Given the description of an element on the screen output the (x, y) to click on. 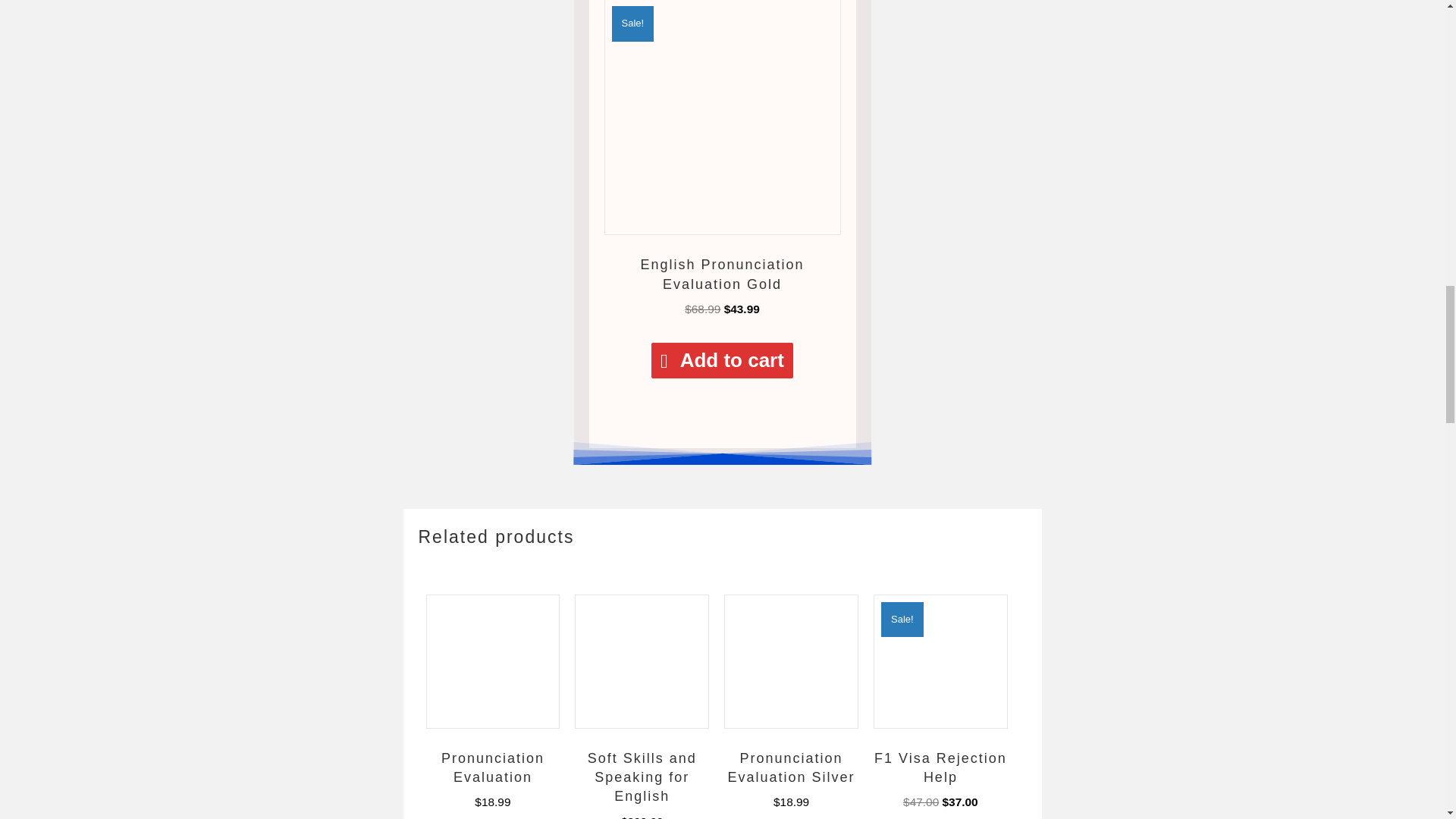
Add to cart (721, 360)
